Given the description of an element on the screen output the (x, y) to click on. 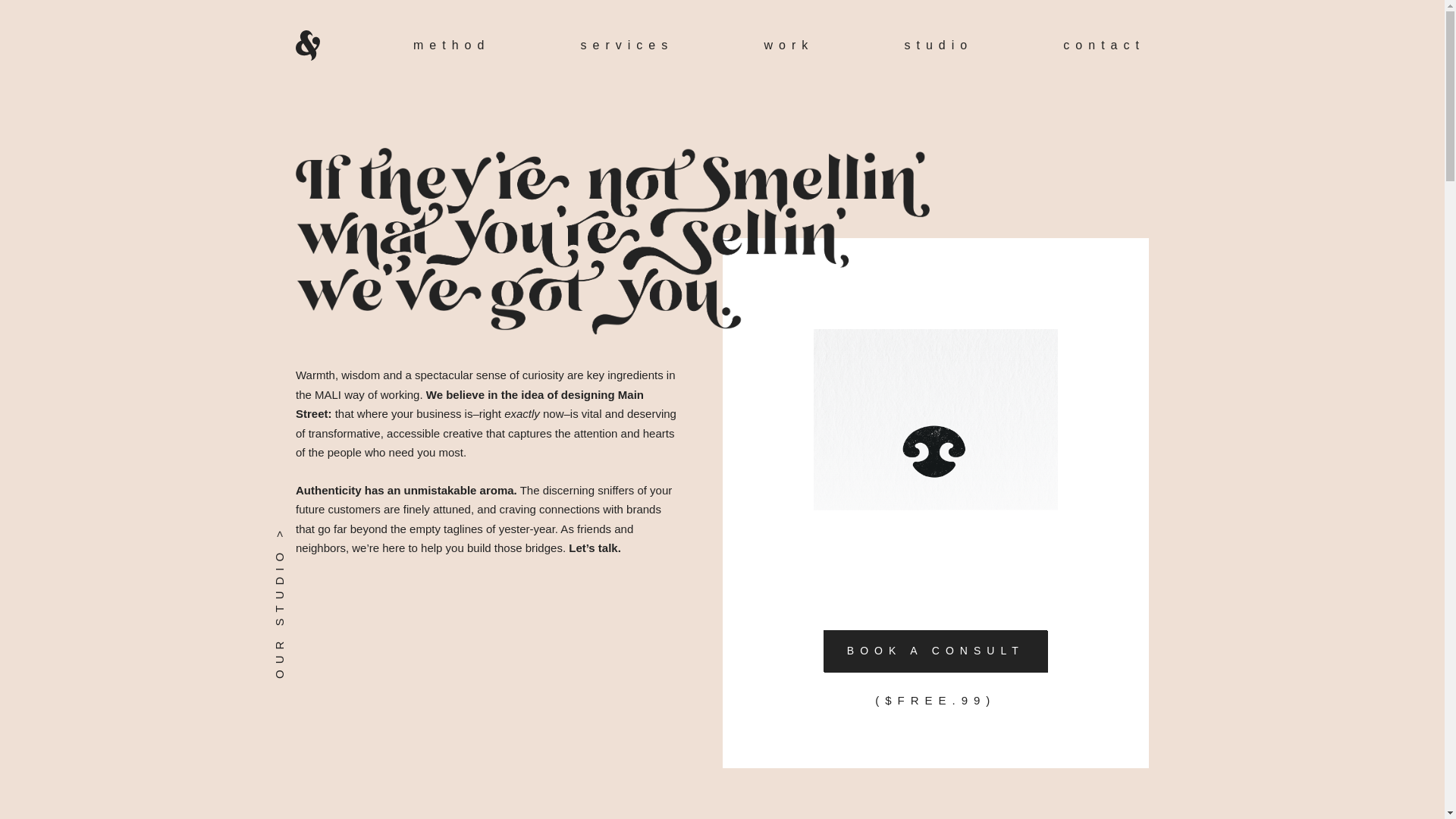
studio (937, 45)
work (788, 45)
BOOK A CONSULT (935, 650)
services (627, 45)
contact (1104, 45)
method (451, 45)
